Given the description of an element on the screen output the (x, y) to click on. 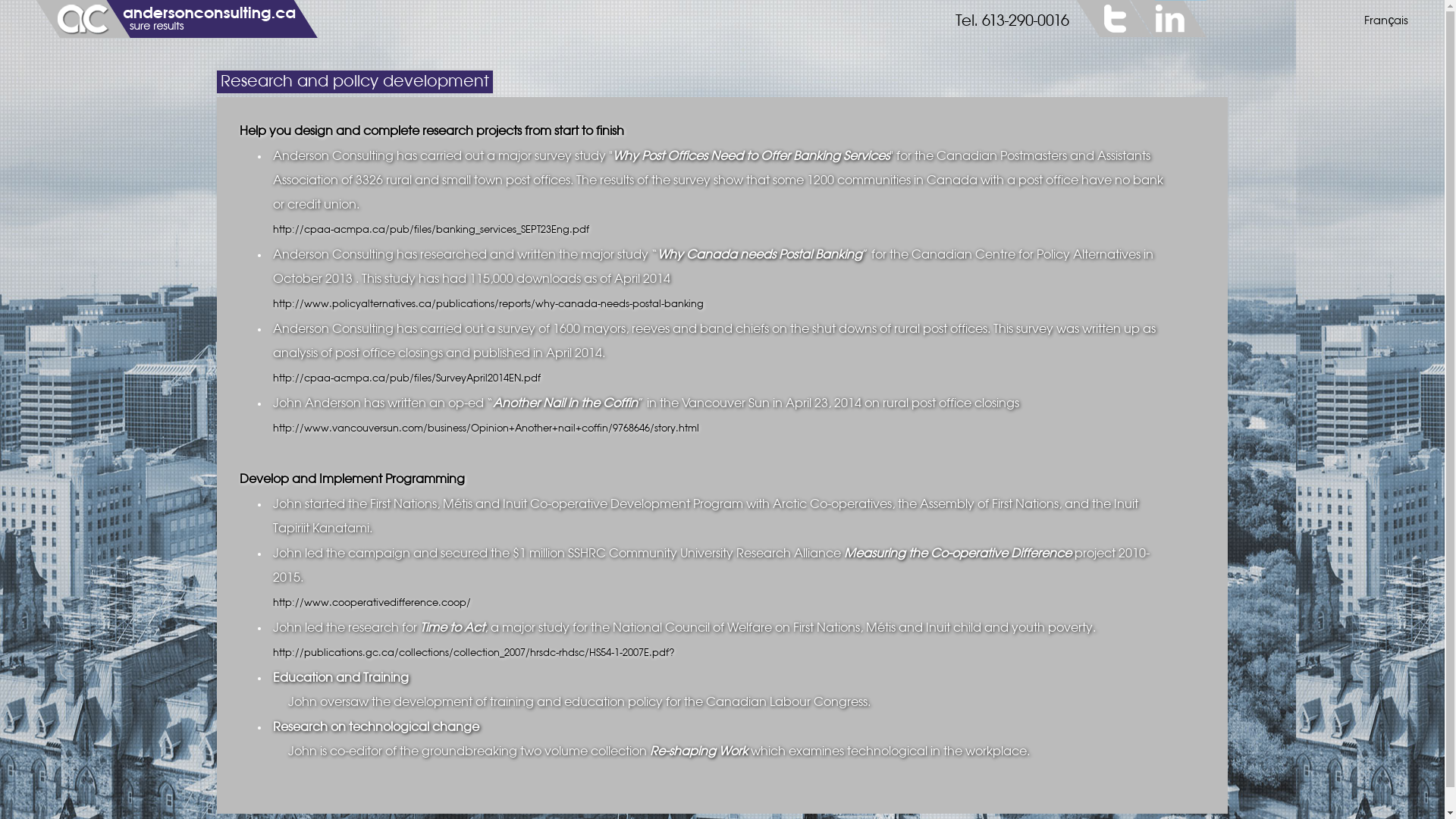
http://cpaa-acmpa.ca/pub/files/SurveyApril2014EN.pdf Element type: text (406, 378)
  Element type: text (1168, 18)
  Element type: text (1113, 18)
Tel. 613-290-0016 Element type: text (1012, 21)
http://www.cooperativedifference.coop/ Element type: text (371, 603)
Develop and Implement Programming Element type: text (351, 479)
